Given the description of an element on the screen output the (x, y) to click on. 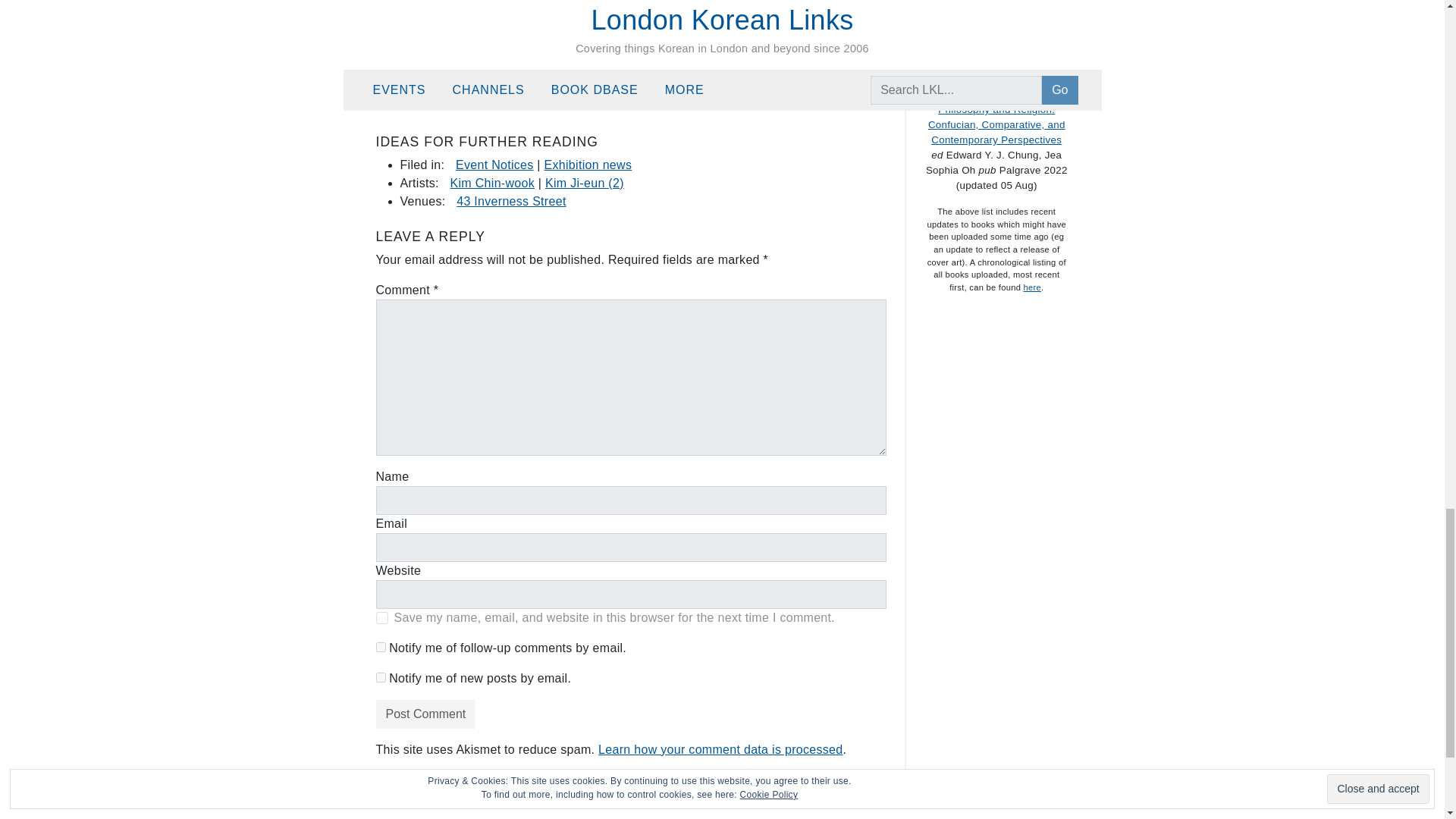
yes (381, 617)
Post Comment (425, 714)
subscribe (380, 646)
subscribe (380, 677)
